Given the description of an element on the screen output the (x, y) to click on. 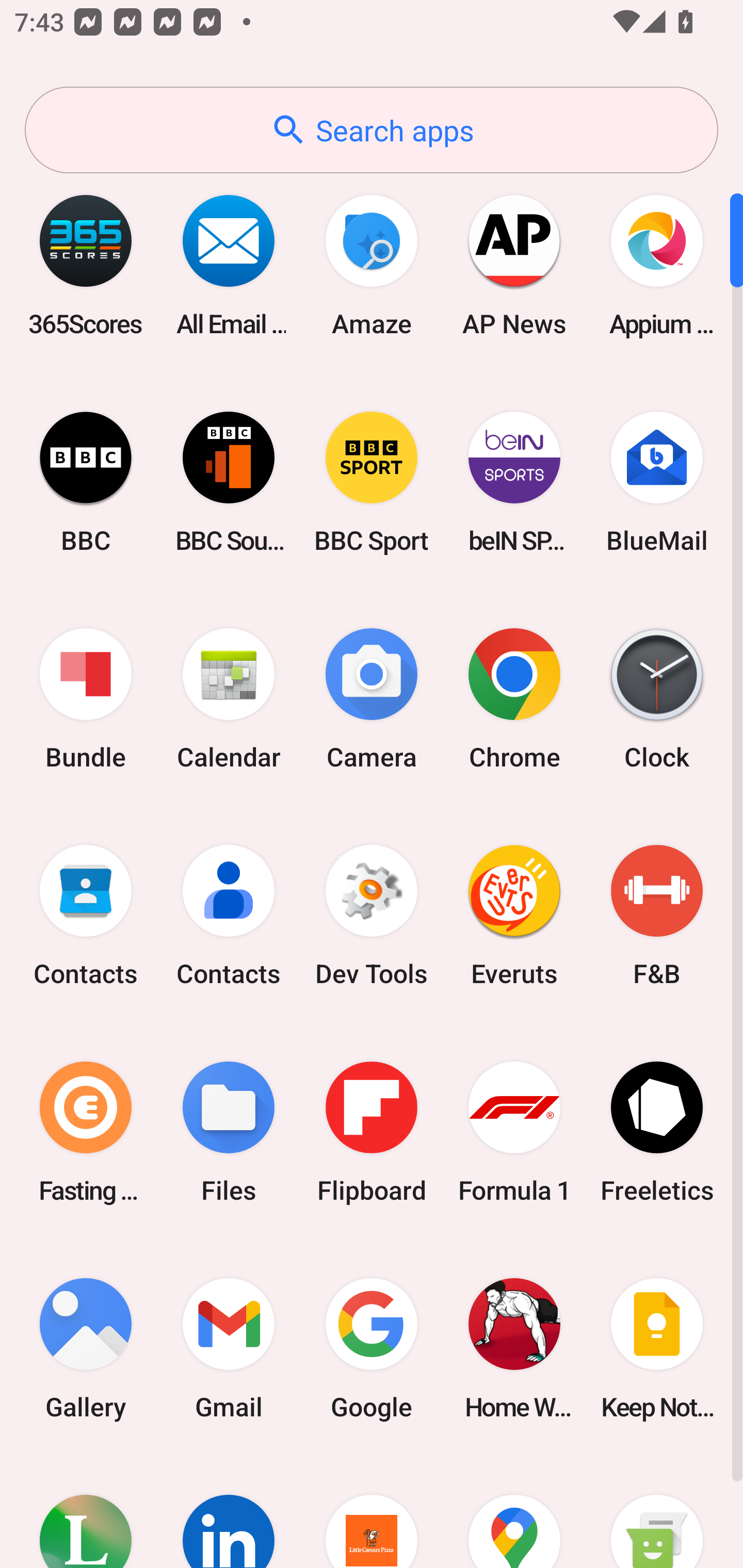
  Search apps (371, 130)
365Scores (85, 264)
All Email Connect (228, 264)
Amaze (371, 264)
AP News (514, 264)
Appium Settings (656, 264)
BBC (85, 482)
BBC Sounds (228, 482)
BBC Sport (371, 482)
beIN SPORTS (514, 482)
BlueMail (656, 482)
Bundle (85, 699)
Calendar (228, 699)
Camera (371, 699)
Chrome (514, 699)
Clock (656, 699)
Contacts (85, 915)
Contacts (228, 915)
Dev Tools (371, 915)
Everuts (514, 915)
F&B (656, 915)
Fasting Coach (85, 1131)
Files (228, 1131)
Flipboard (371, 1131)
Formula 1 (514, 1131)
Freeletics (656, 1131)
Gallery (85, 1348)
Gmail (228, 1348)
Google (371, 1348)
Home Workout (514, 1348)
Keep Notes (656, 1348)
Lifesum (85, 1512)
LinkedIn (228, 1512)
Little Caesars Pizza (371, 1512)
Maps (514, 1512)
Messaging (656, 1512)
